Given the description of an element on the screen output the (x, y) to click on. 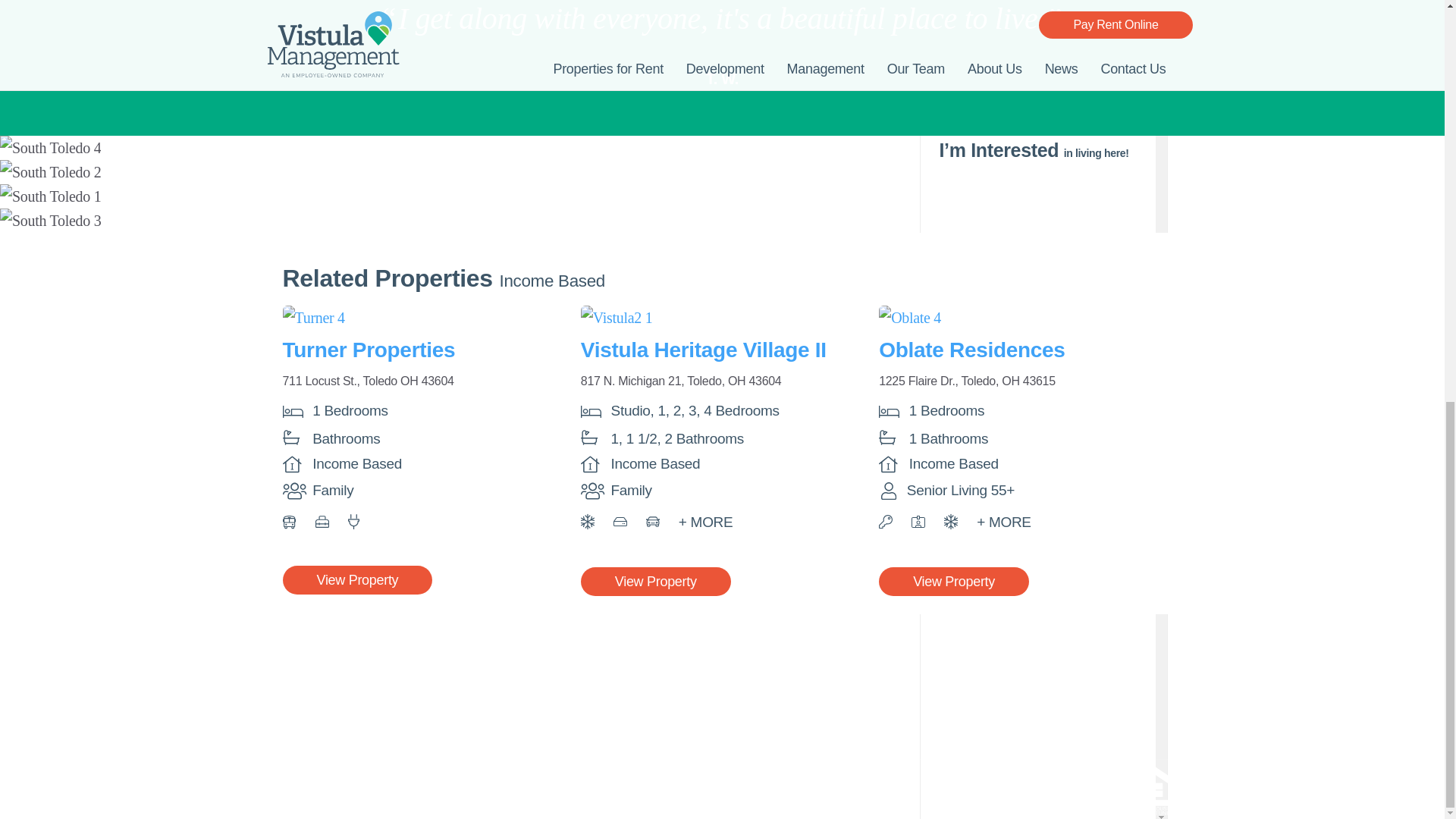
Turner Properties (368, 349)
Contact Us (787, 736)
Vistula Heritage Village II (703, 349)
Pay Rent Online (1022, 736)
News (772, 712)
View Property (954, 581)
Our Team (1005, 712)
View Property (357, 579)
Management (571, 712)
Market Rate Properties (599, 687)
